Given the description of an element on the screen output the (x, y) to click on. 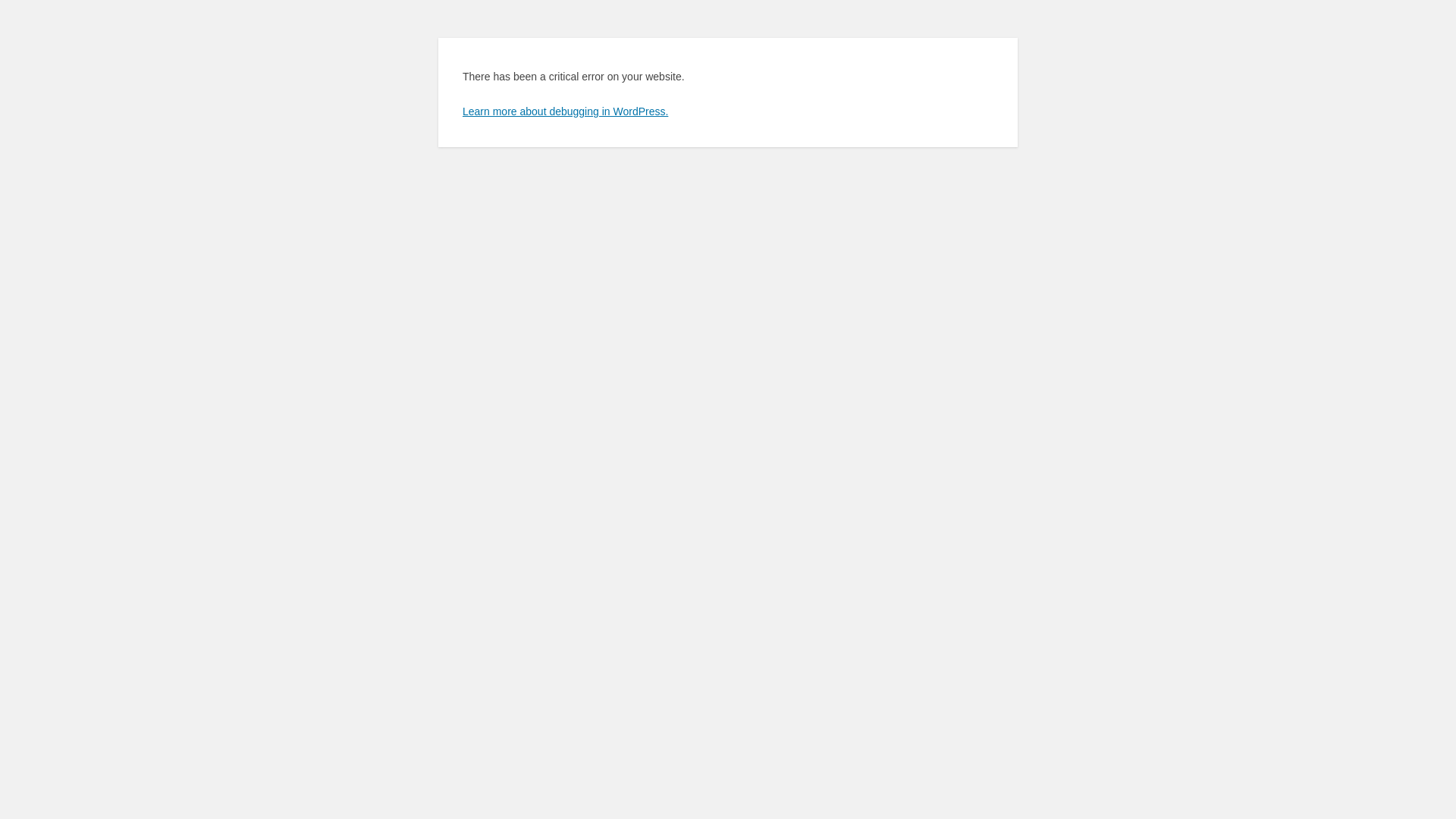
Learn more about debugging in WordPress. Element type: text (565, 111)
